Given the description of an element on the screen output the (x, y) to click on. 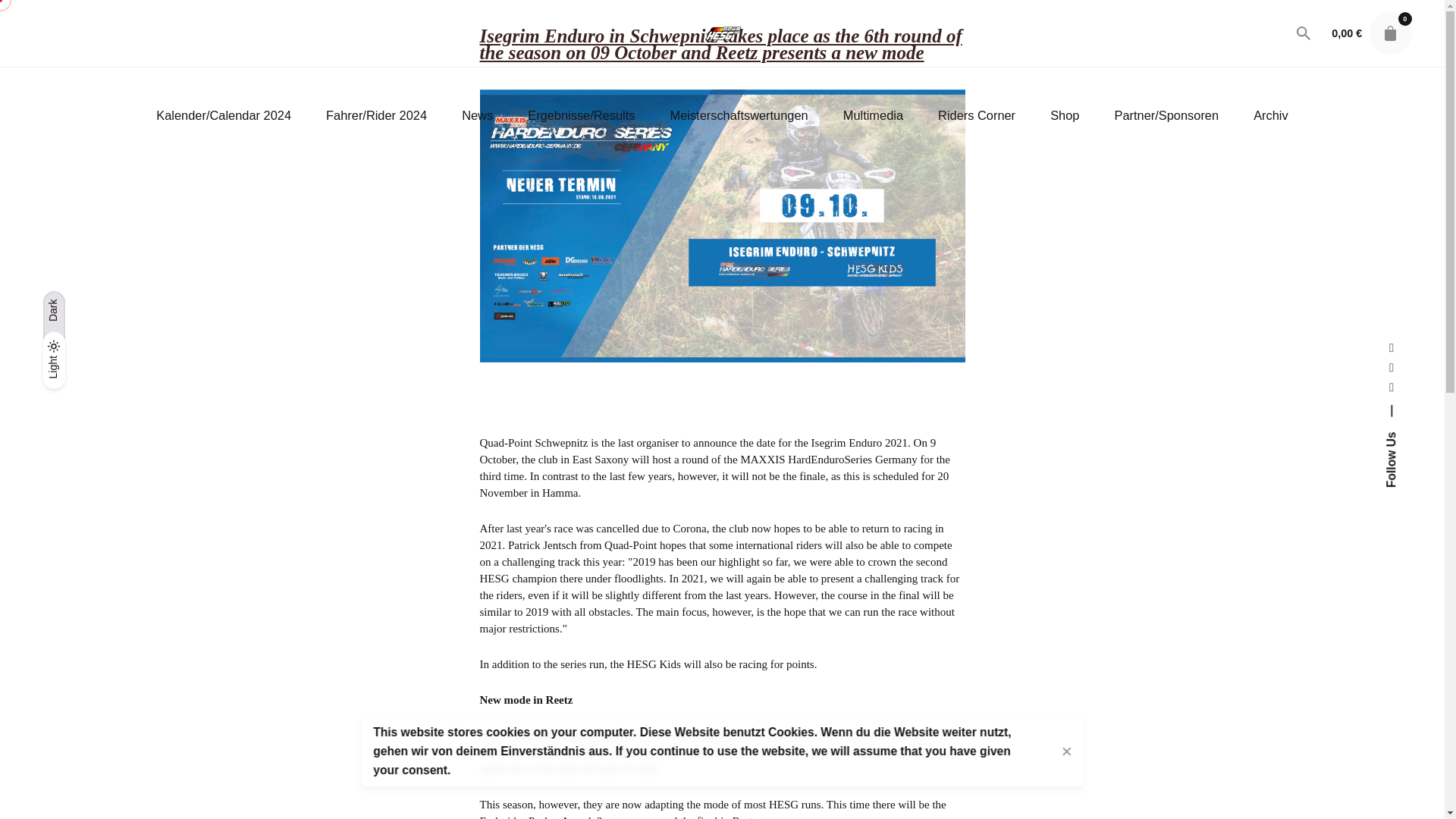
Meisterschaftswertungen (738, 115)
Riders Corner (976, 115)
Multimedia (872, 115)
News (477, 115)
